Given the description of an element on the screen output the (x, y) to click on. 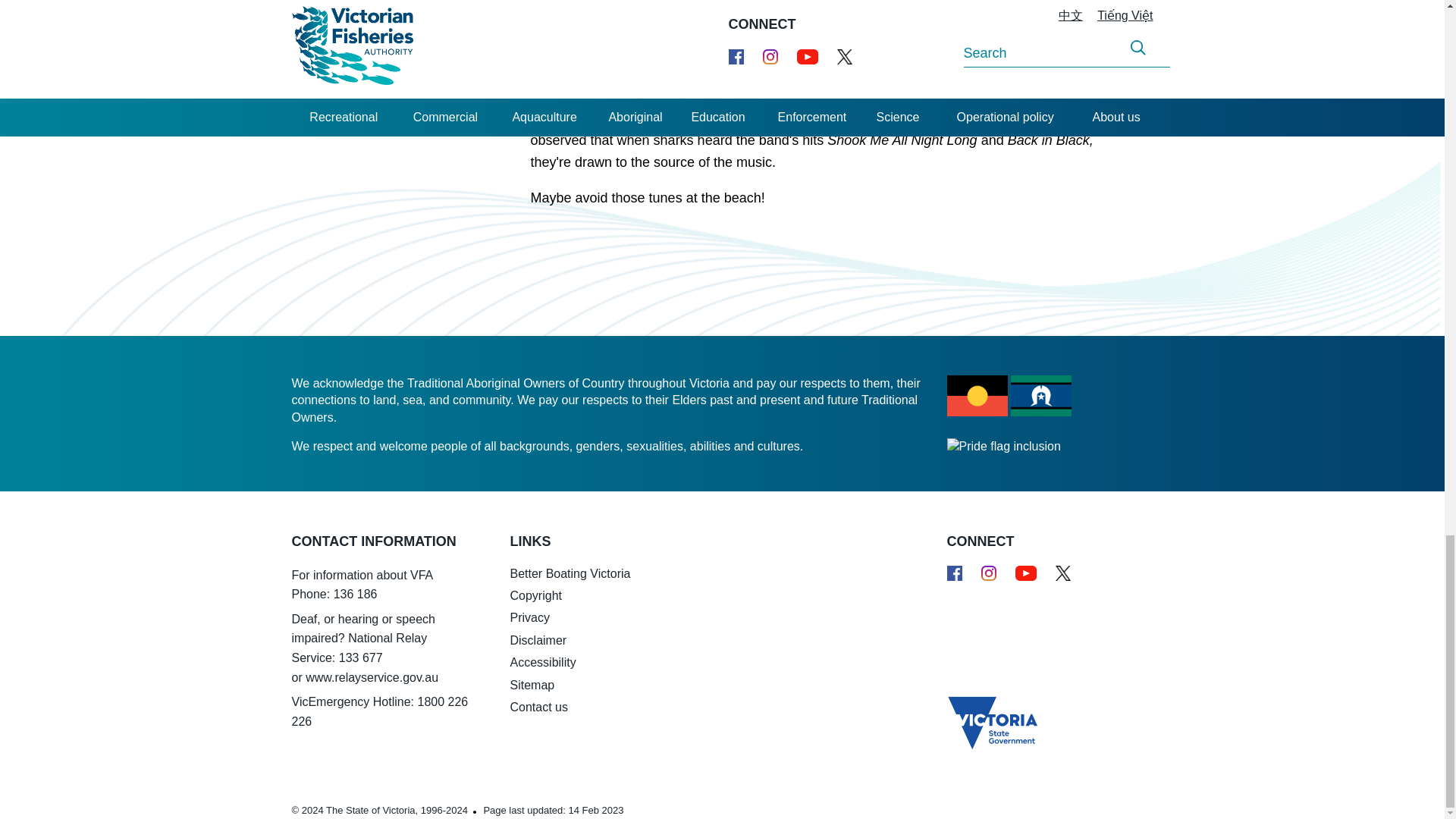
Instagram (988, 572)
Better Boating Victoria (980, 639)
Facebook (953, 572)
VIC State Government (980, 716)
YouTube (1024, 572)
